Given the description of an element on the screen output the (x, y) to click on. 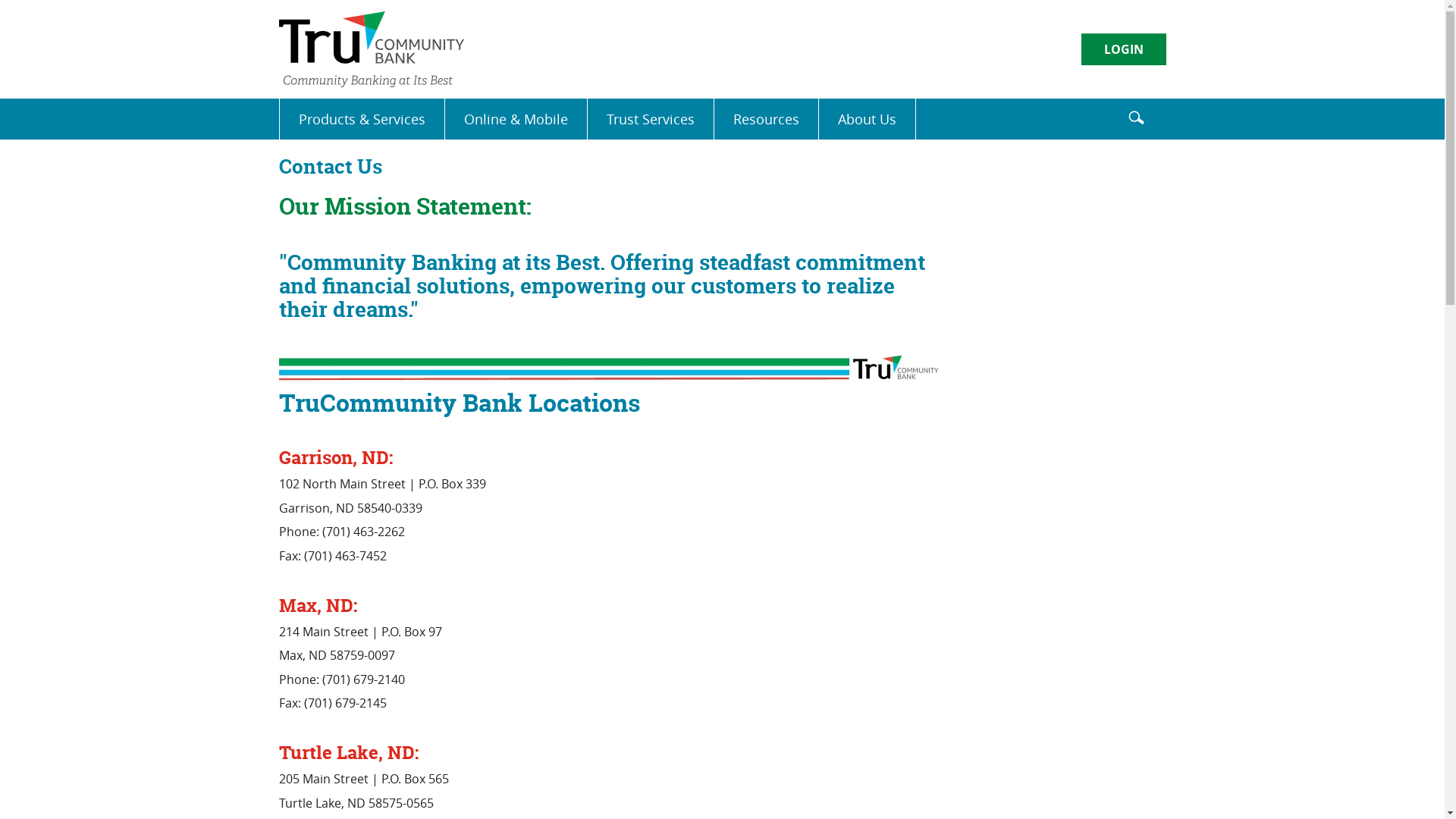
Click for search modal Element type: hover (1135, 116)
TruCommunity Bank, Garrison, ND Element type: hover (371, 49)
LOGIN Element type: text (1123, 49)
